Given the description of an element on the screen output the (x, y) to click on. 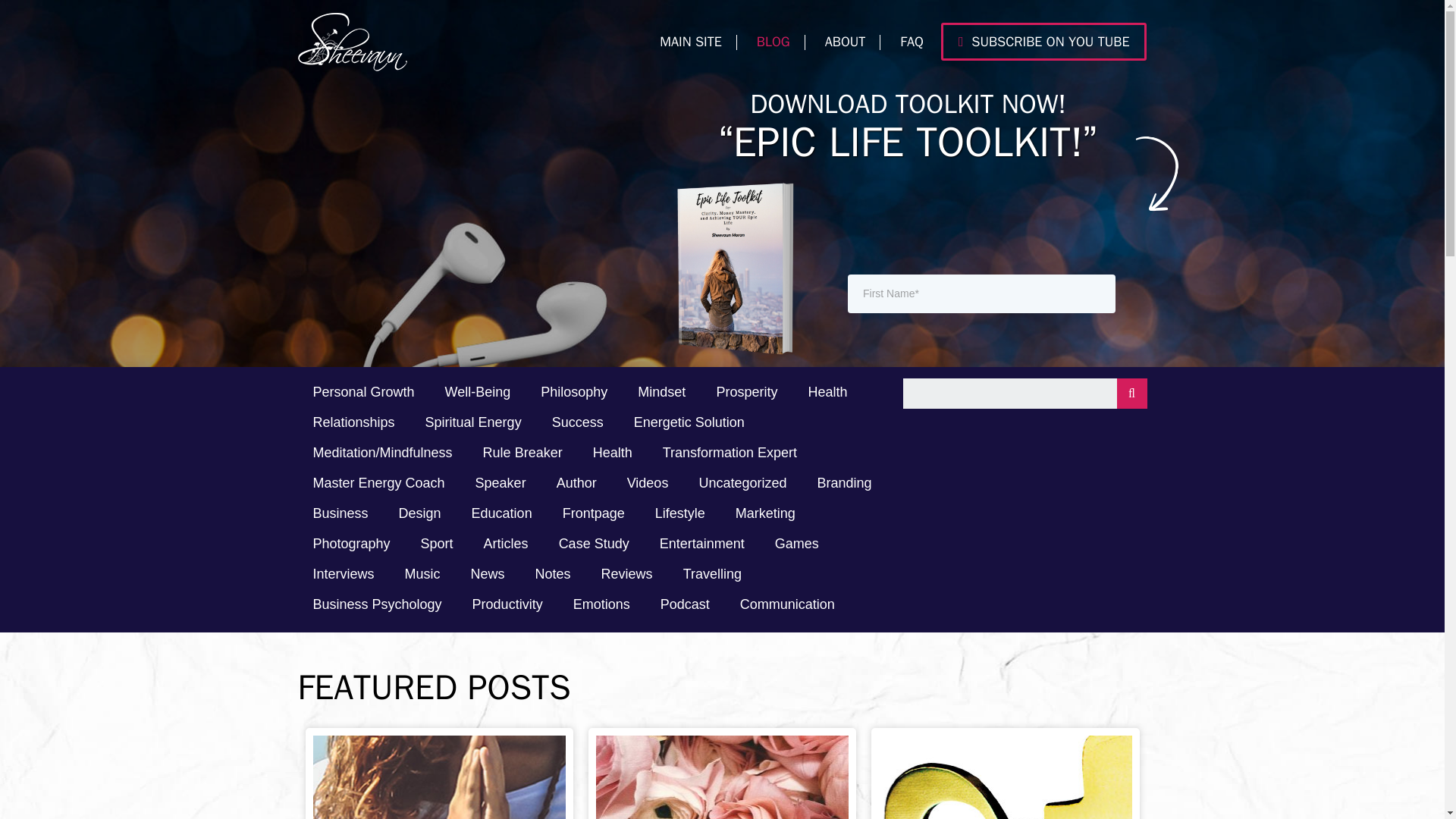
Rule Breaker (522, 453)
  SUBSCRIBE ON YOU TUBE (1043, 41)
Sport (437, 544)
Spiritual Energy (473, 423)
Prosperity (746, 393)
Well-Being (477, 393)
FAQ (912, 41)
Mindset (661, 393)
ABOUT (844, 41)
Speaker (500, 484)
